Given the description of an element on the screen output the (x, y) to click on. 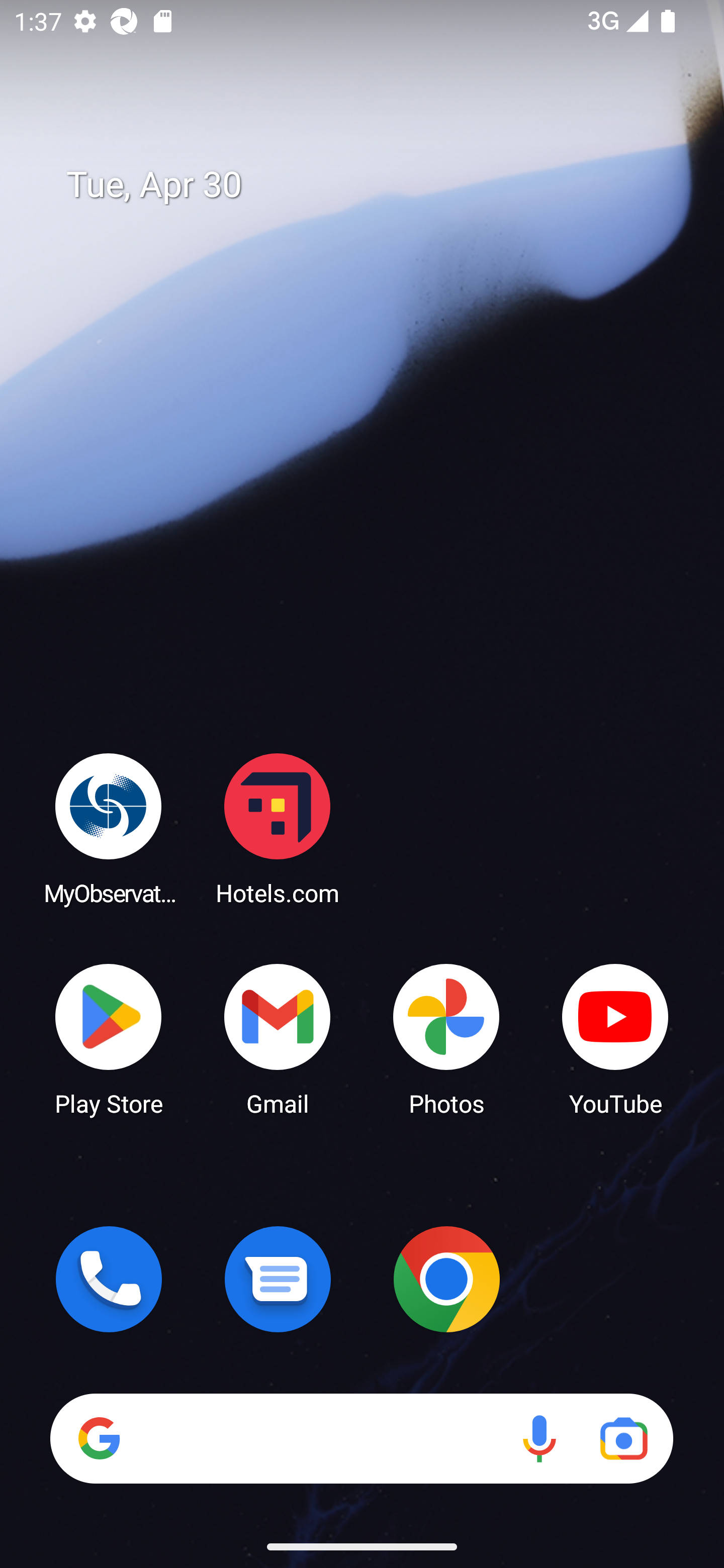
Tue, Apr 30 (375, 184)
MyObservatory (108, 828)
Hotels.com (277, 828)
Play Store (108, 1038)
Gmail (277, 1038)
Photos (445, 1038)
YouTube (615, 1038)
Phone (108, 1279)
Messages (277, 1279)
Chrome (446, 1279)
Voice search (539, 1438)
Google Lens (623, 1438)
